Given the description of an element on the screen output the (x, y) to click on. 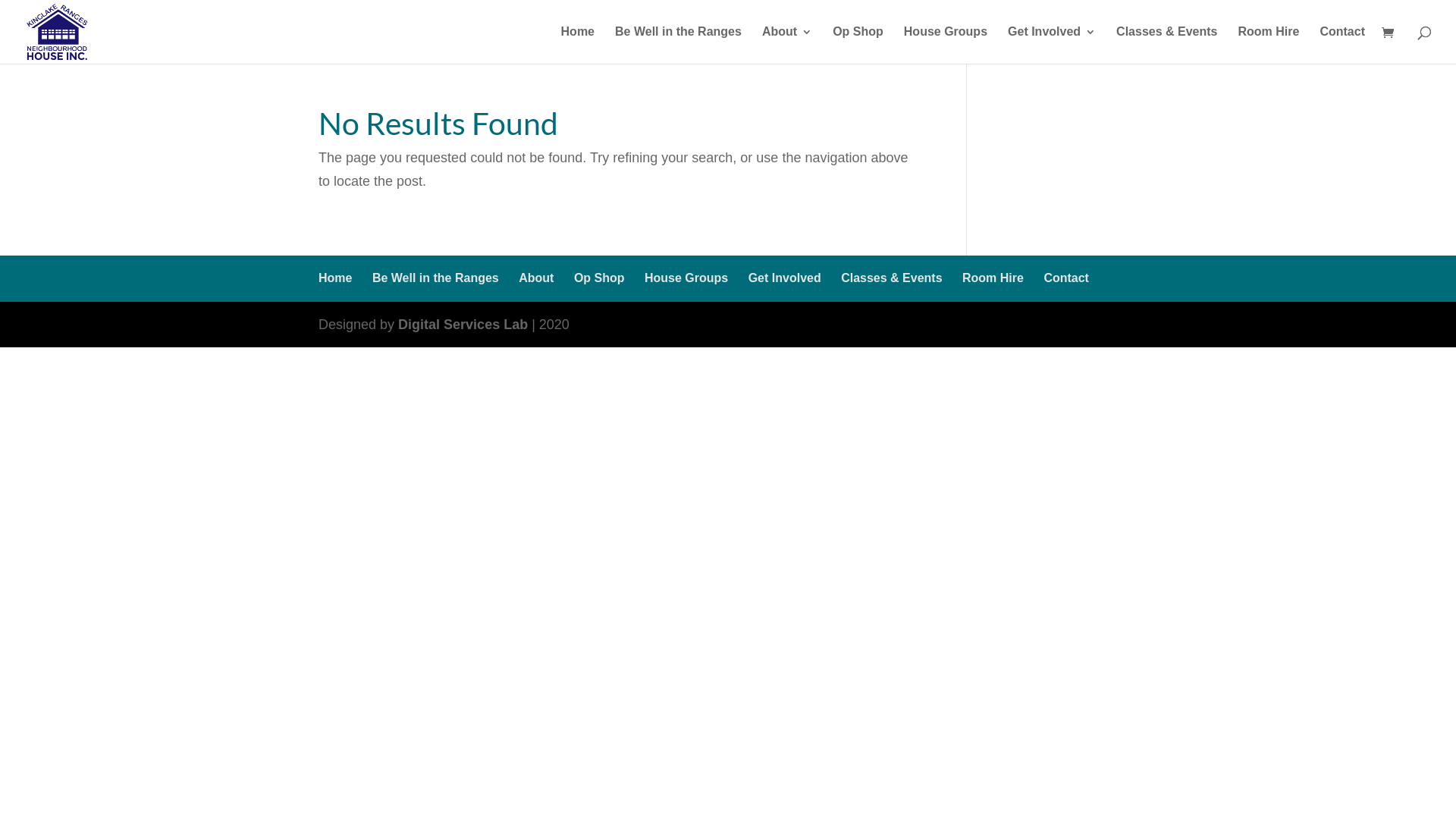
Contact Element type: text (1342, 44)
Home Element type: text (577, 44)
Op Shop Element type: text (599, 277)
House Groups Element type: text (686, 277)
Classes & Events Element type: text (1166, 44)
Home Element type: text (334, 277)
Get Involved Element type: text (1051, 44)
About Element type: text (787, 44)
Get Involved Element type: text (784, 277)
Contact Element type: text (1065, 277)
House Groups Element type: text (945, 44)
Op Shop Element type: text (857, 44)
Digital Services Lab Element type: text (462, 324)
Classes & Events Element type: text (890, 277)
About Element type: text (535, 277)
Be Well in the Ranges Element type: text (435, 277)
Room Hire Element type: text (1268, 44)
Room Hire Element type: text (992, 277)
Be Well in the Ranges Element type: text (678, 44)
